Given the description of an element on the screen output the (x, y) to click on. 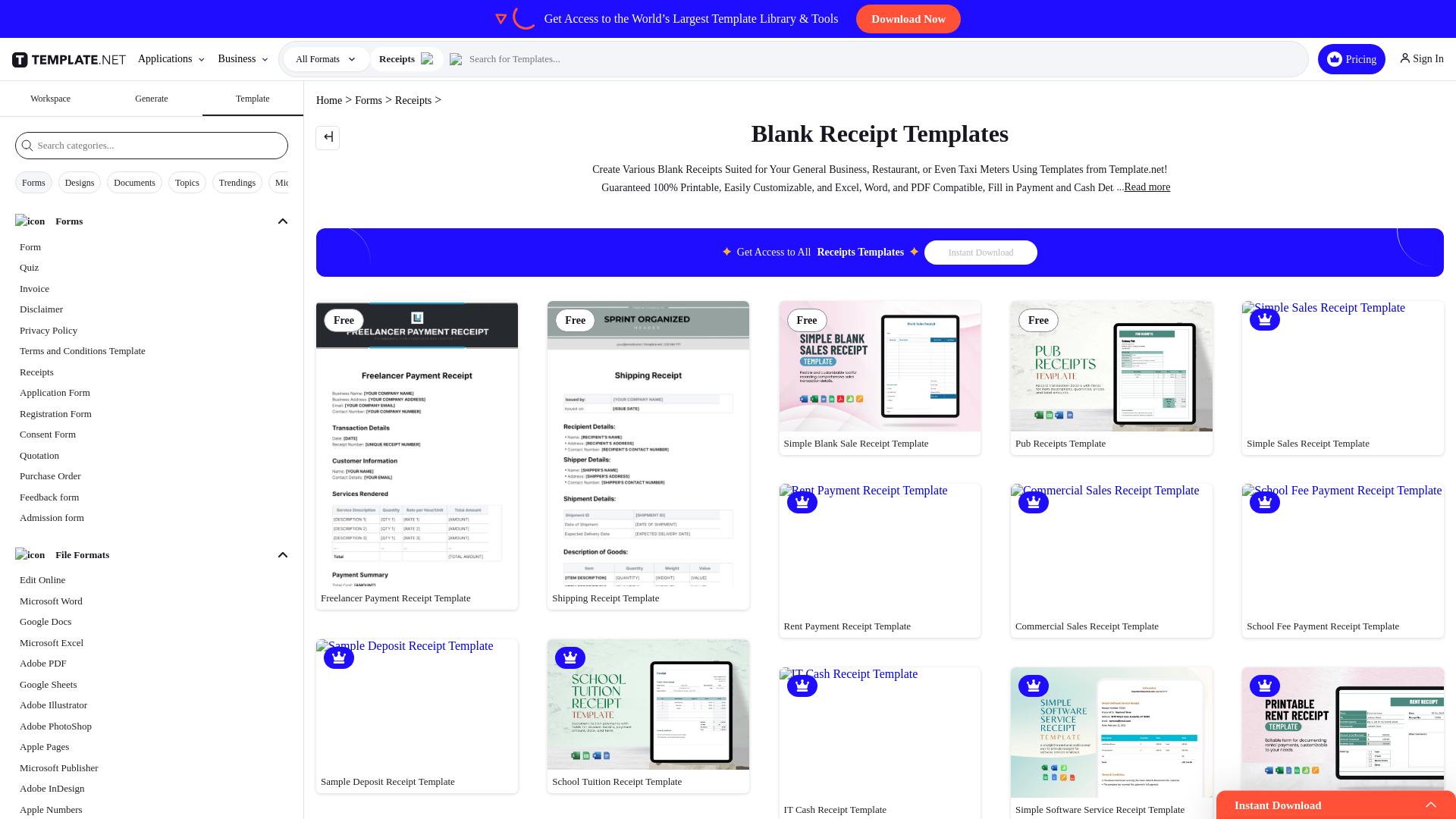
Template.net (71, 59)
Download Now (908, 18)
